Given the description of an element on the screen output the (x, y) to click on. 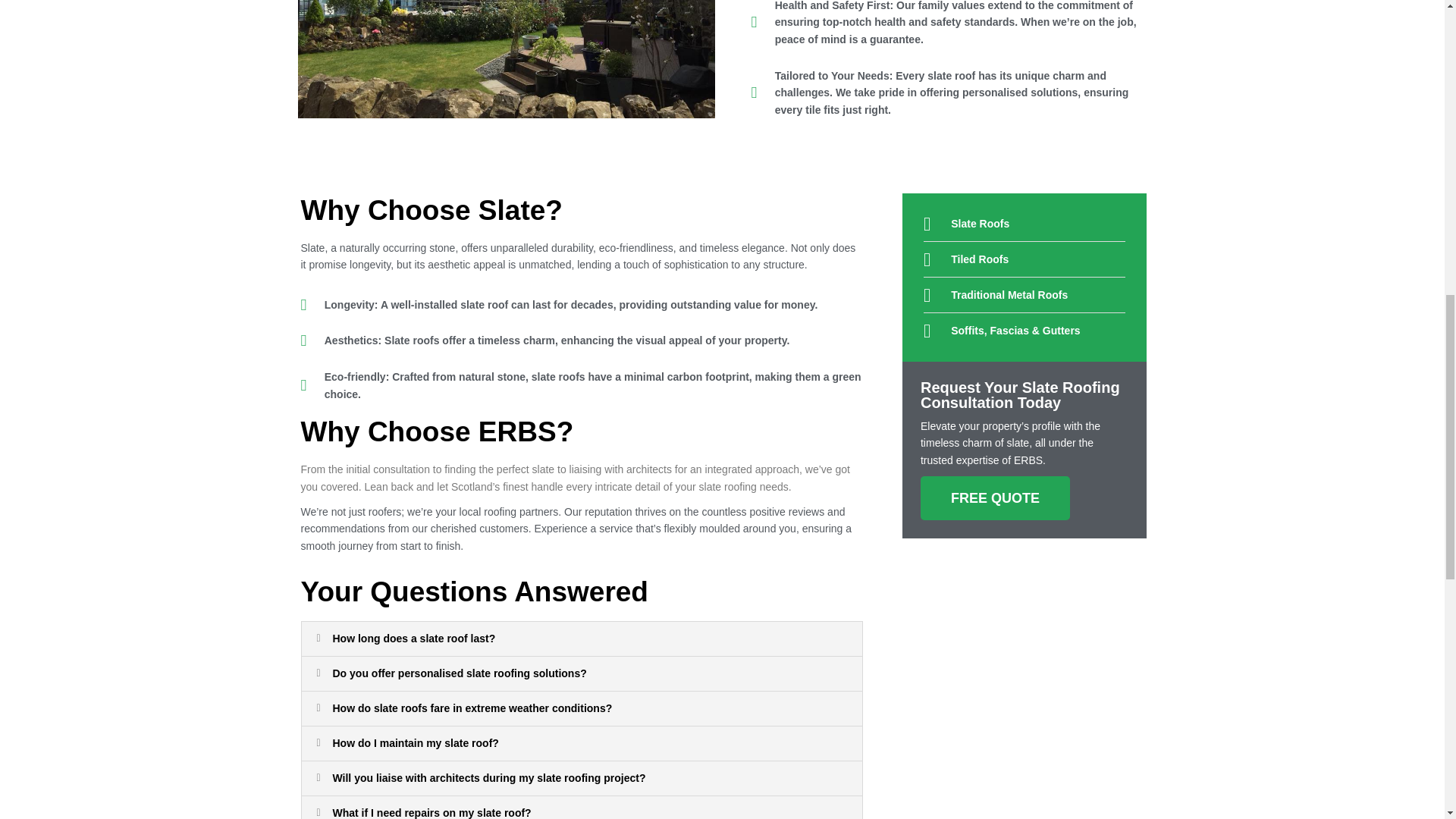
How do I maintain my slate roof? (414, 743)
FREE QUOTE (995, 497)
Do you offer personalised slate roofing solutions? (458, 673)
Tiled Roofs (1024, 259)
What if I need repairs on my slate roof? (431, 812)
Traditional Metal Roofs (1024, 294)
How long does a slate roof last? (413, 638)
Slate Roofs (1024, 223)
How do slate roofs fare in extreme weather conditions? (471, 707)
